Given the description of an element on the screen output the (x, y) to click on. 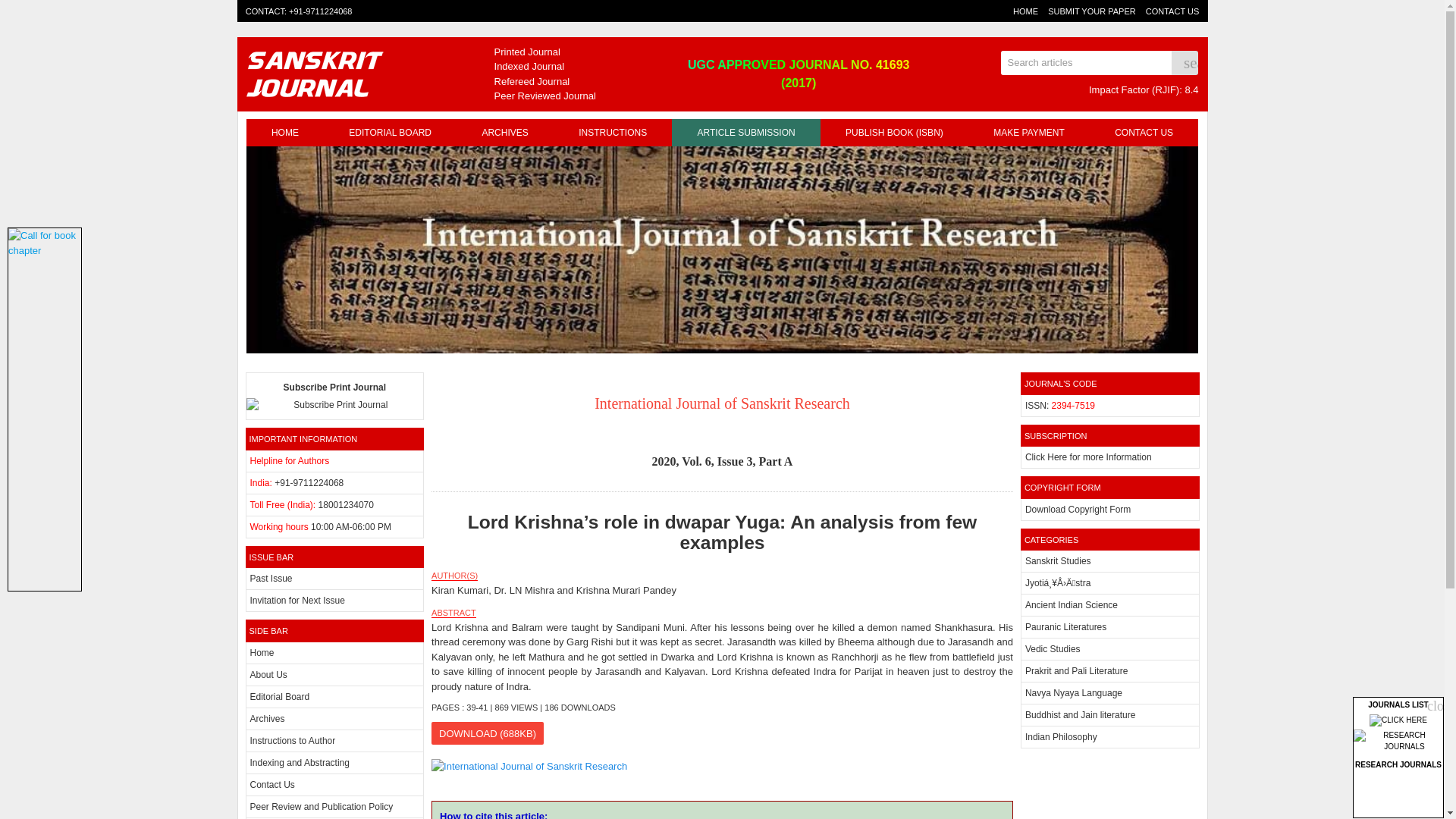
Editorial Board (280, 696)
Invitation for Next Issue (297, 600)
search (1185, 62)
Subscribe Print Journal (335, 396)
Home (262, 652)
ARTICLE SUBMISSION (746, 131)
Contact Us (272, 784)
SUBMIT YOUR PAPER (1091, 11)
ARCHIVES (505, 131)
HOME (284, 131)
Instructions to Author (293, 740)
MAKE PAYMENT (1028, 131)
About Us (268, 674)
Peer Review and Publication Policy (321, 806)
CONTACT US (1172, 11)
